Given the description of an element on the screen output the (x, y) to click on. 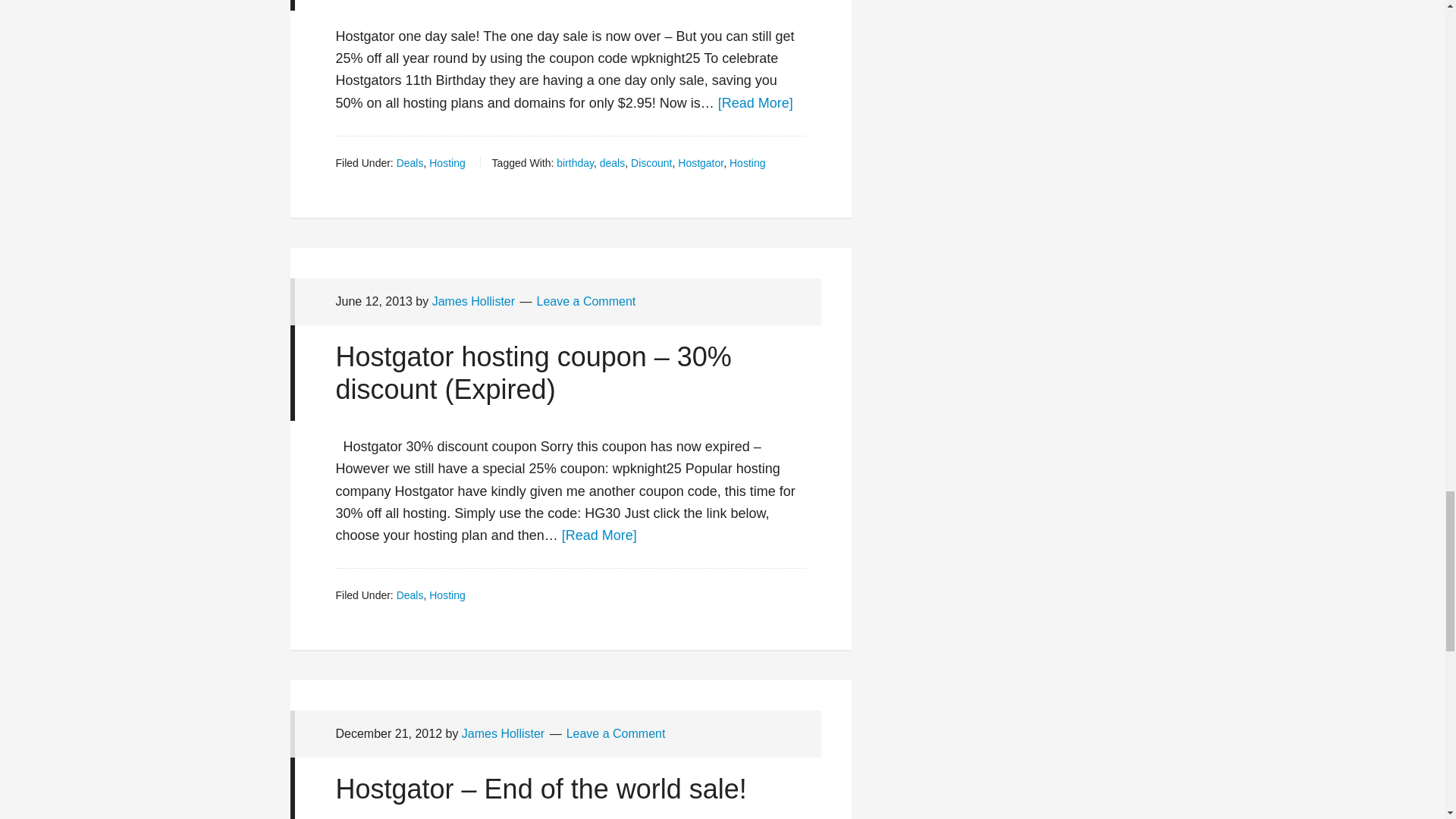
birthday (575, 162)
Hostgator (700, 162)
Deals (409, 162)
Discount (650, 162)
Hosting (747, 162)
Hosting (446, 162)
deals (611, 162)
